Given the description of an element on the screen output the (x, y) to click on. 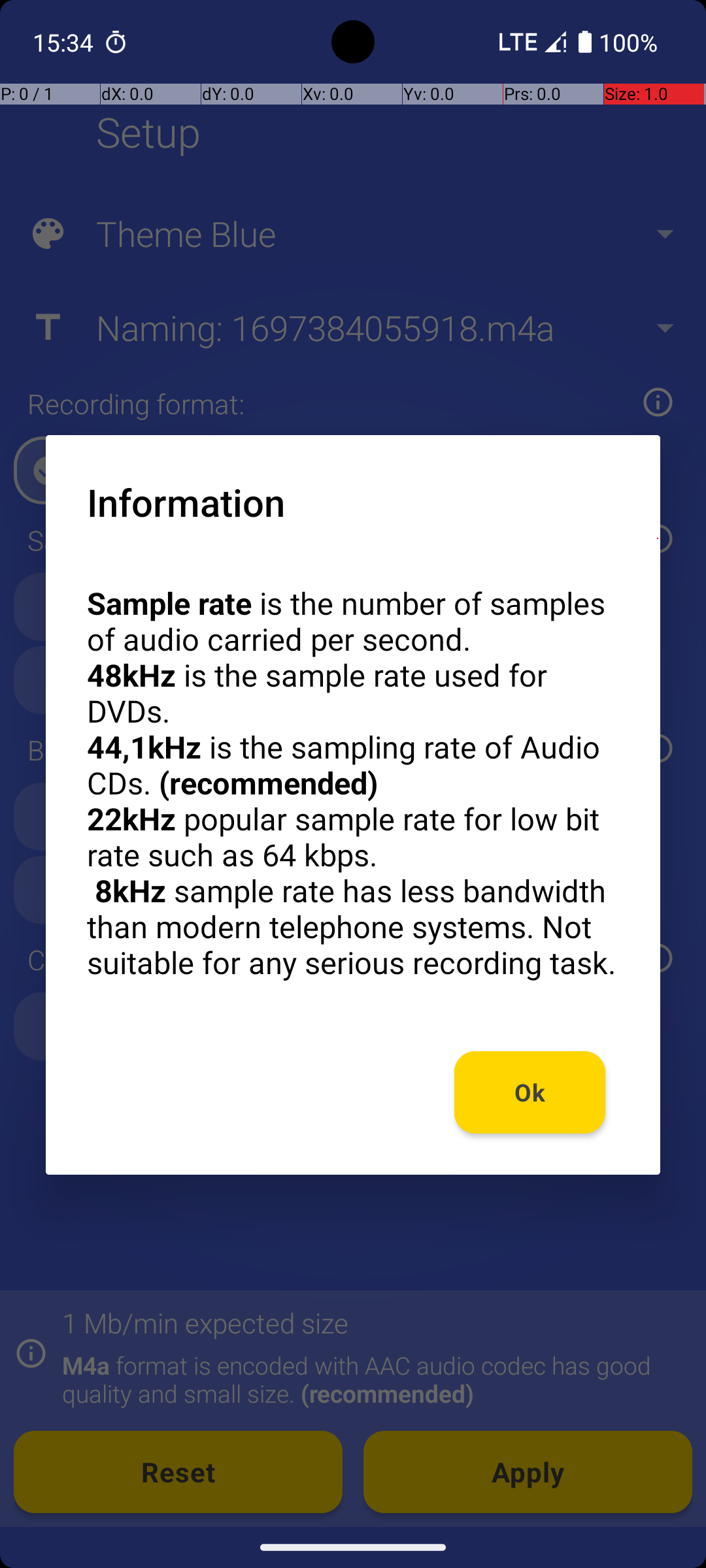
Information Element type: android.widget.TextView (185, 501)
Sample rate is the number of samples of audio carried per second. 
48kHz is the sample rate used for DVDs. 
44,1kHz is the sampling rate of Audio CDs. (recommended) 
22kHz popular sample rate for low bit rate such as 64 kbps. 
 8kHz sample rate has less bandwidth than modern telephone systems. Not suitable for any serious recording task.  Element type: android.widget.TextView (352, 782)
Ok Element type: android.widget.Button (529, 1092)
